Given the description of an element on the screen output the (x, y) to click on. 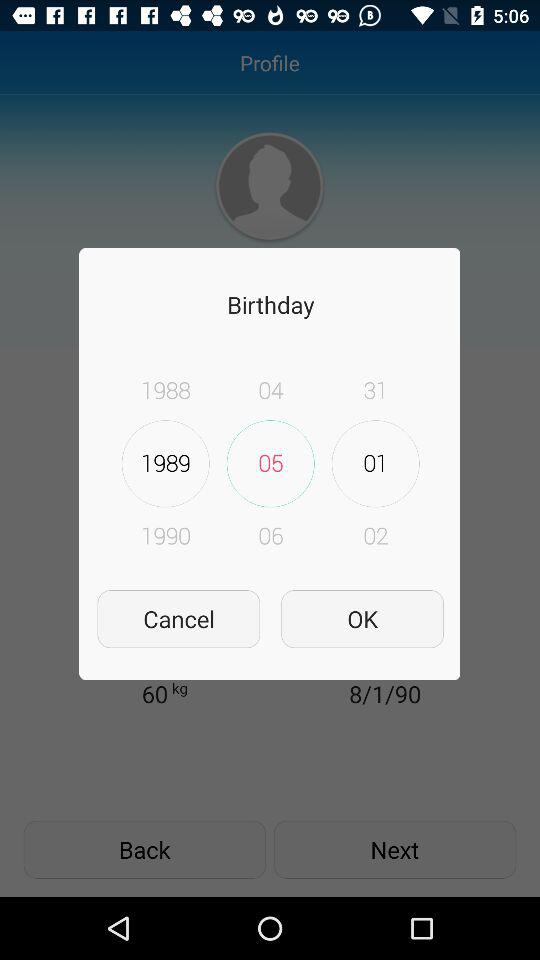
launch item next to cancel (362, 618)
